Given the description of an element on the screen output the (x, y) to click on. 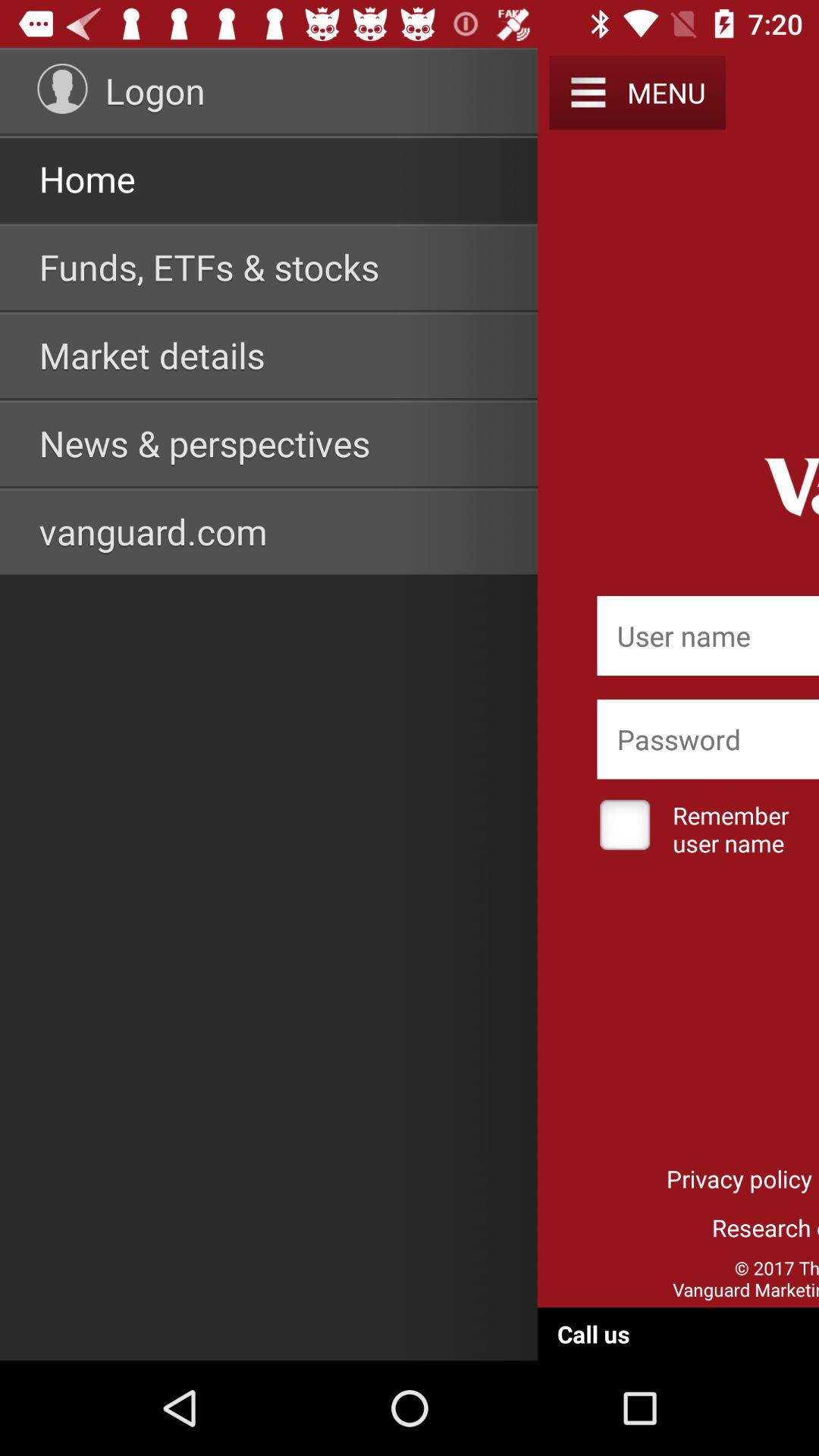
tap home icon (87, 178)
